Given the description of an element on the screen output the (x, y) to click on. 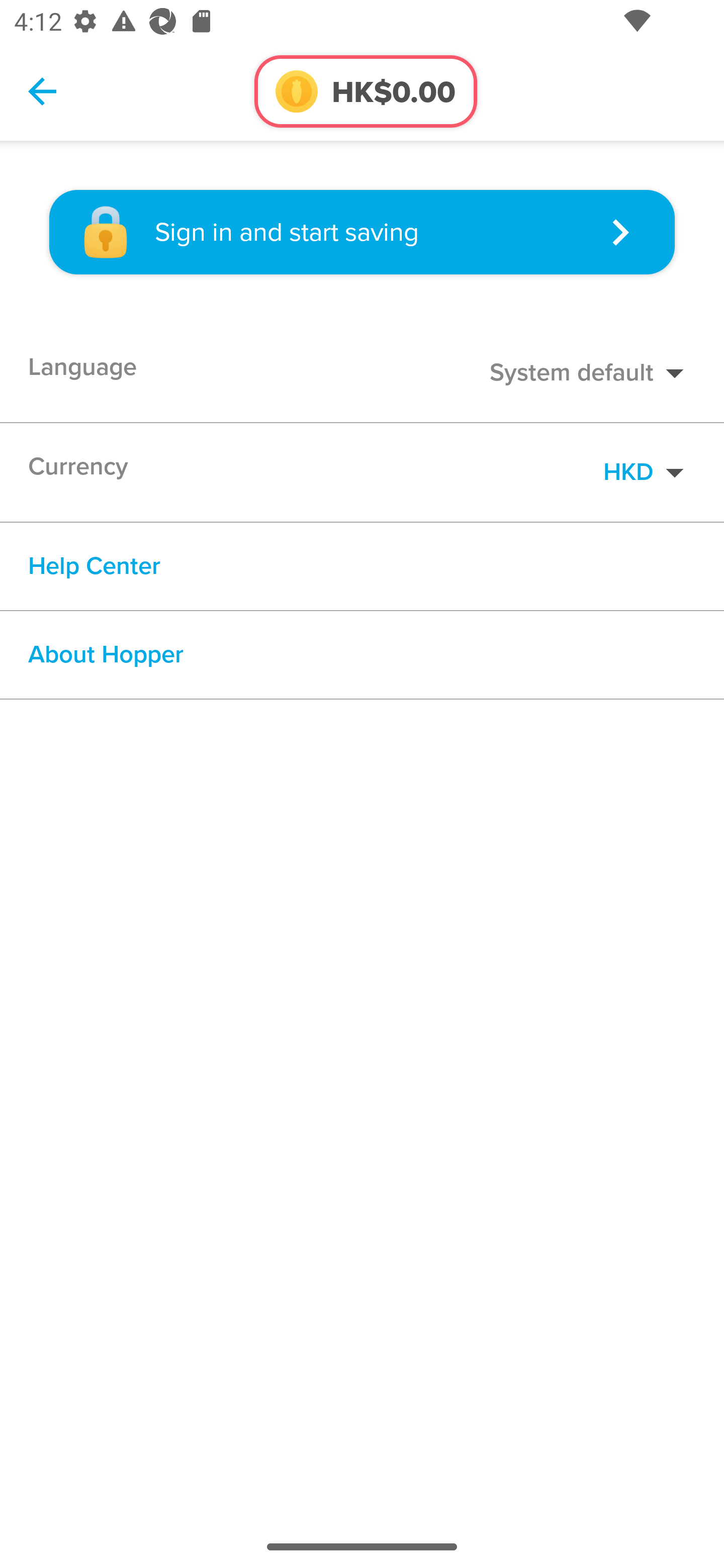
back (42, 90)
Wallet HK$0.00 (365, 90)
Sign In Sign in and start saving Sign In (361, 231)
System default Open (592, 372)
HKD Open (649, 471)
